Given the description of an element on the screen output the (x, y) to click on. 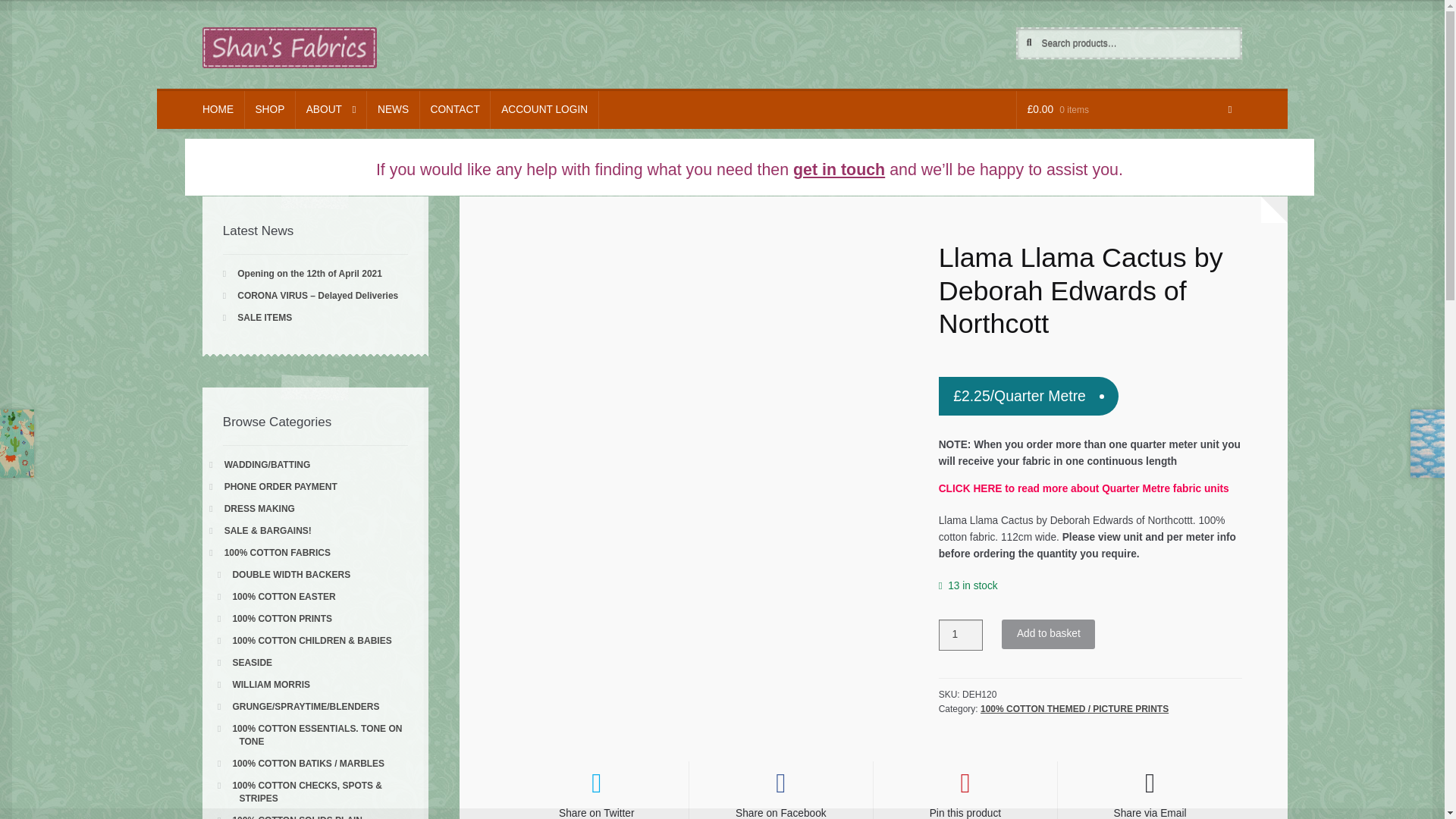
CLICK HERE to read more about Quarter Metre fabric units (1083, 488)
ACCOUNT LOGIN (543, 109)
Share via Email (1149, 790)
Share on Twitter (596, 790)
NEWS (392, 109)
SHOP (269, 109)
ABOUT (330, 109)
1 (960, 634)
View your shopping basket (1128, 109)
Pin this product (965, 790)
get in touch (839, 169)
HOME (218, 109)
Add to basket (1047, 634)
